Given the description of an element on the screen output the (x, y) to click on. 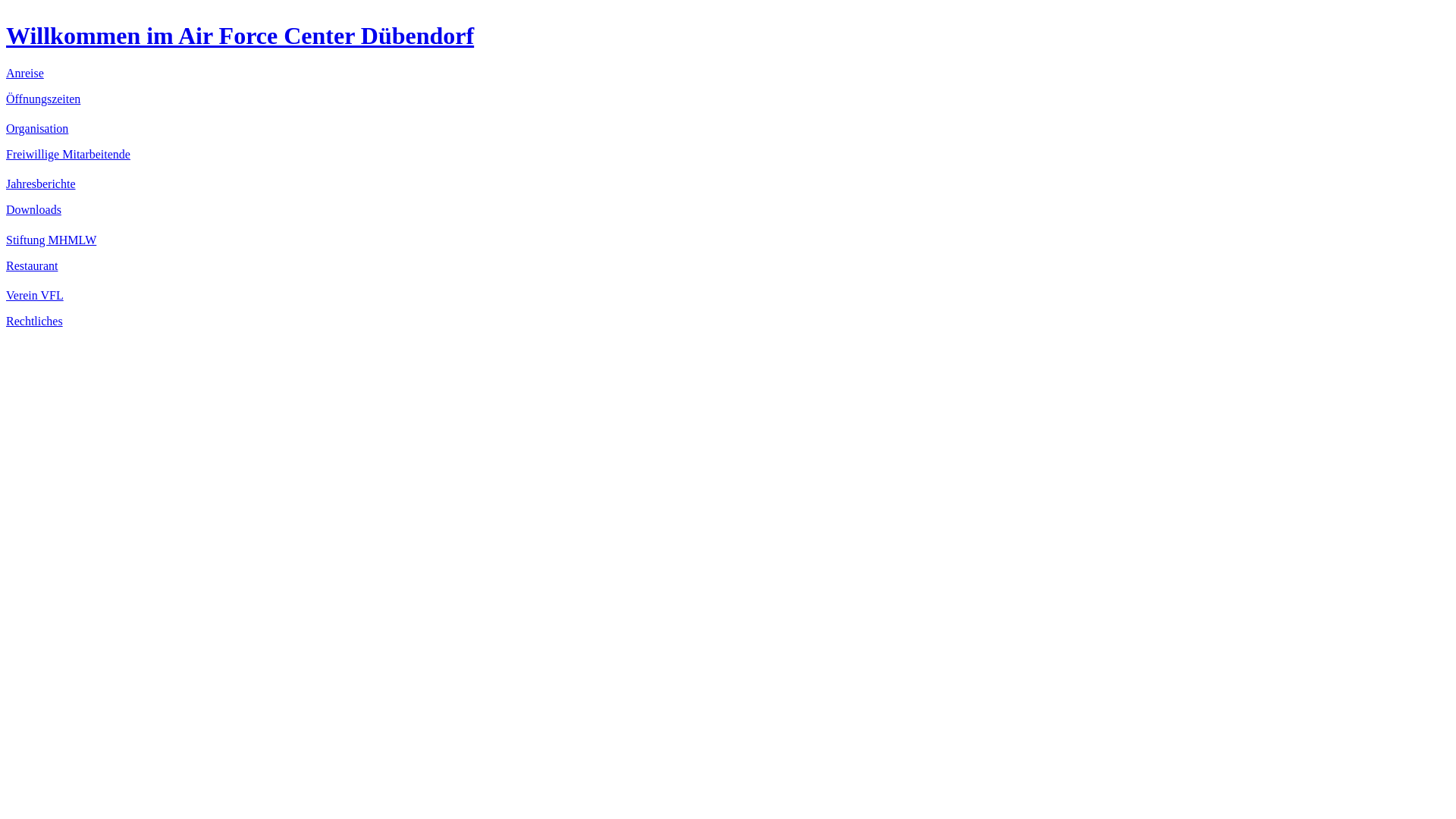
Restaurant Element type: text (31, 265)
Rechtliches Element type: text (34, 320)
Anreise Element type: text (24, 72)
Verein VFL Element type: text (34, 294)
Downloads Element type: text (33, 209)
Stiftung MHMLW Element type: text (51, 239)
Jahresberichte Element type: text (40, 183)
Organisation Element type: text (37, 128)
Freiwillige Mitarbeitende Element type: text (68, 153)
